Given the description of an element on the screen output the (x, y) to click on. 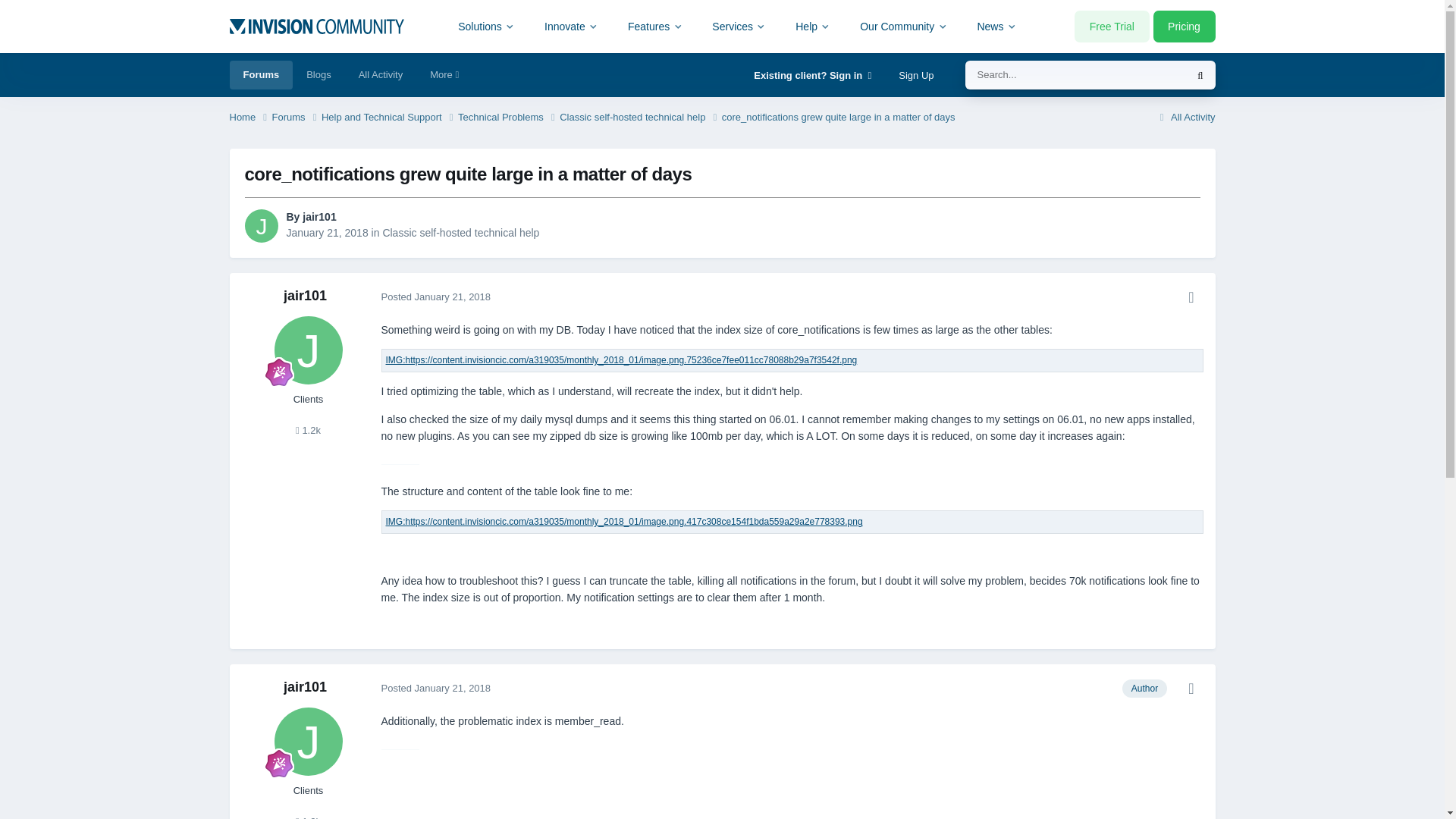
Features (654, 26)
Innovate (570, 26)
Services (738, 26)
Solutions (486, 26)
Help (812, 26)
Home (249, 117)
